Given the description of an element on the screen output the (x, y) to click on. 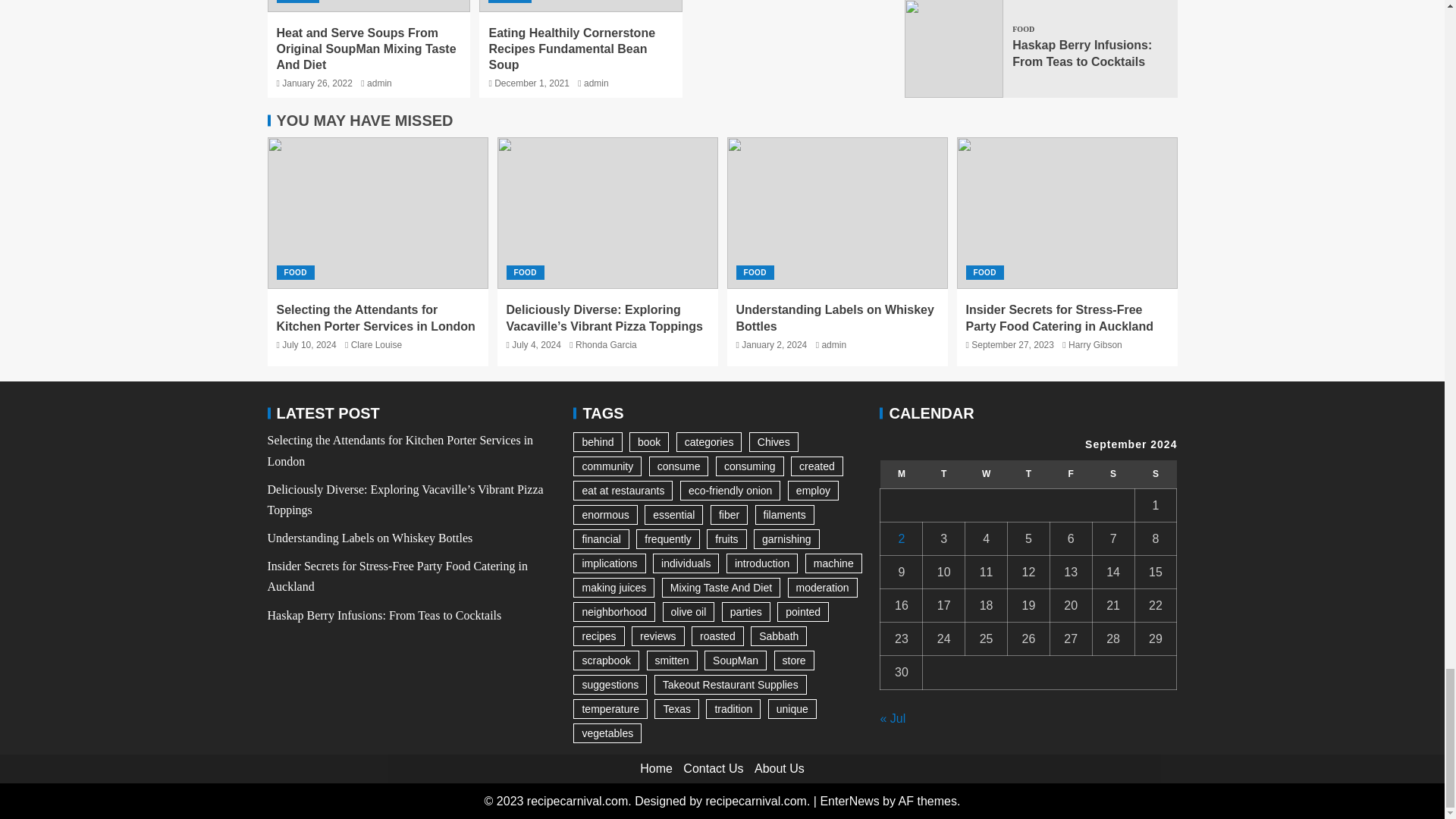
admin (595, 82)
Tuesday (944, 474)
Friday (1070, 474)
Sunday (1155, 474)
admin (378, 82)
Wednesday (986, 474)
SOUPS (509, 1)
Saturday (1113, 474)
SOUPS (297, 1)
Monday (901, 474)
